Given the description of an element on the screen output the (x, y) to click on. 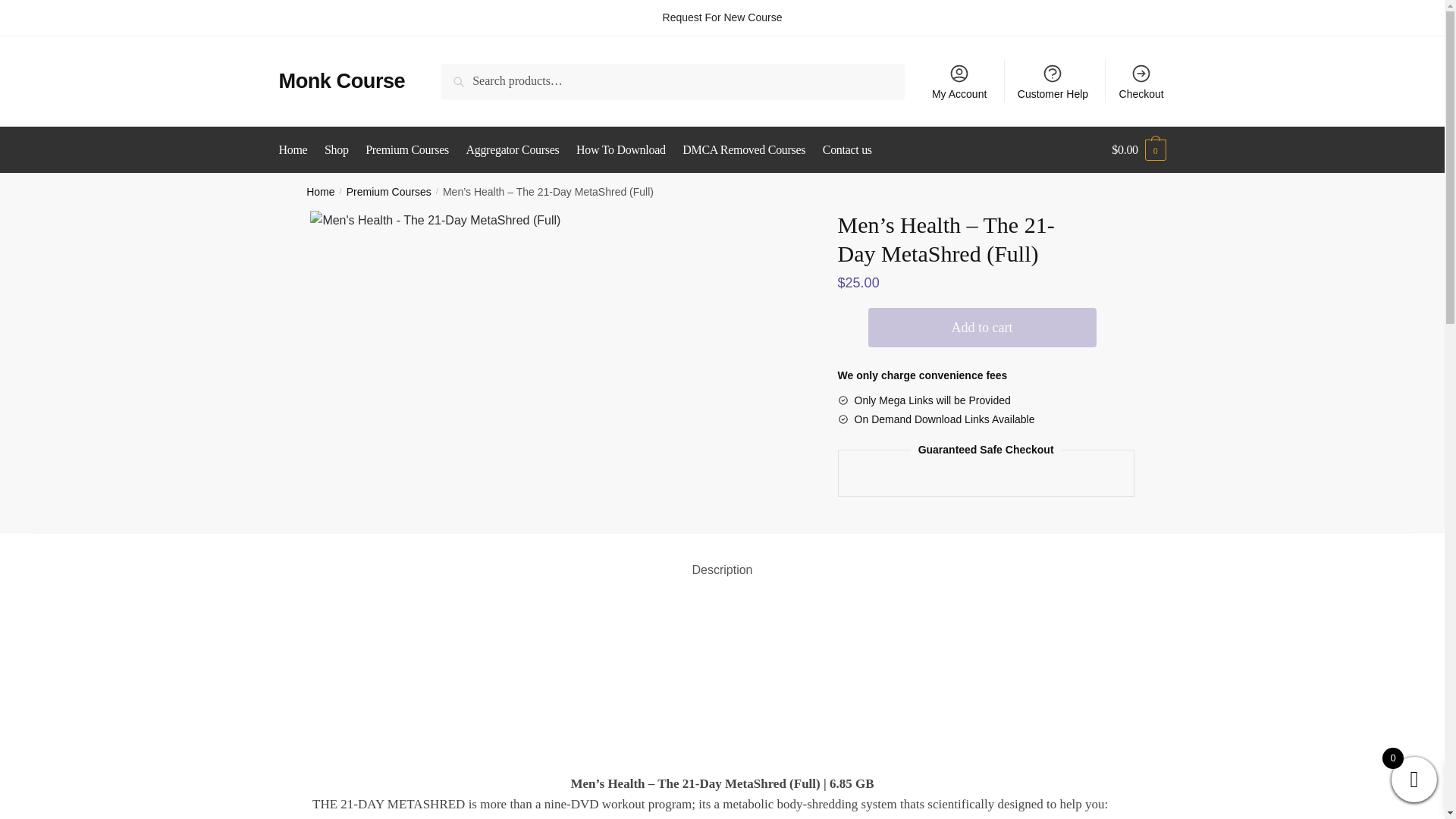
Add to cart (981, 327)
Premium Courses (406, 149)
Monk Course (342, 80)
Contact us (847, 149)
My Account (959, 80)
Home (296, 149)
View your shopping cart (1139, 149)
Home (319, 191)
Premium Courses (388, 191)
Description (721, 557)
Aggregator Courses (513, 149)
How To Download (620, 149)
Customer Help (1053, 80)
Checkout (1141, 80)
DMCA Removed Courses (743, 149)
